Given the description of an element on the screen output the (x, y) to click on. 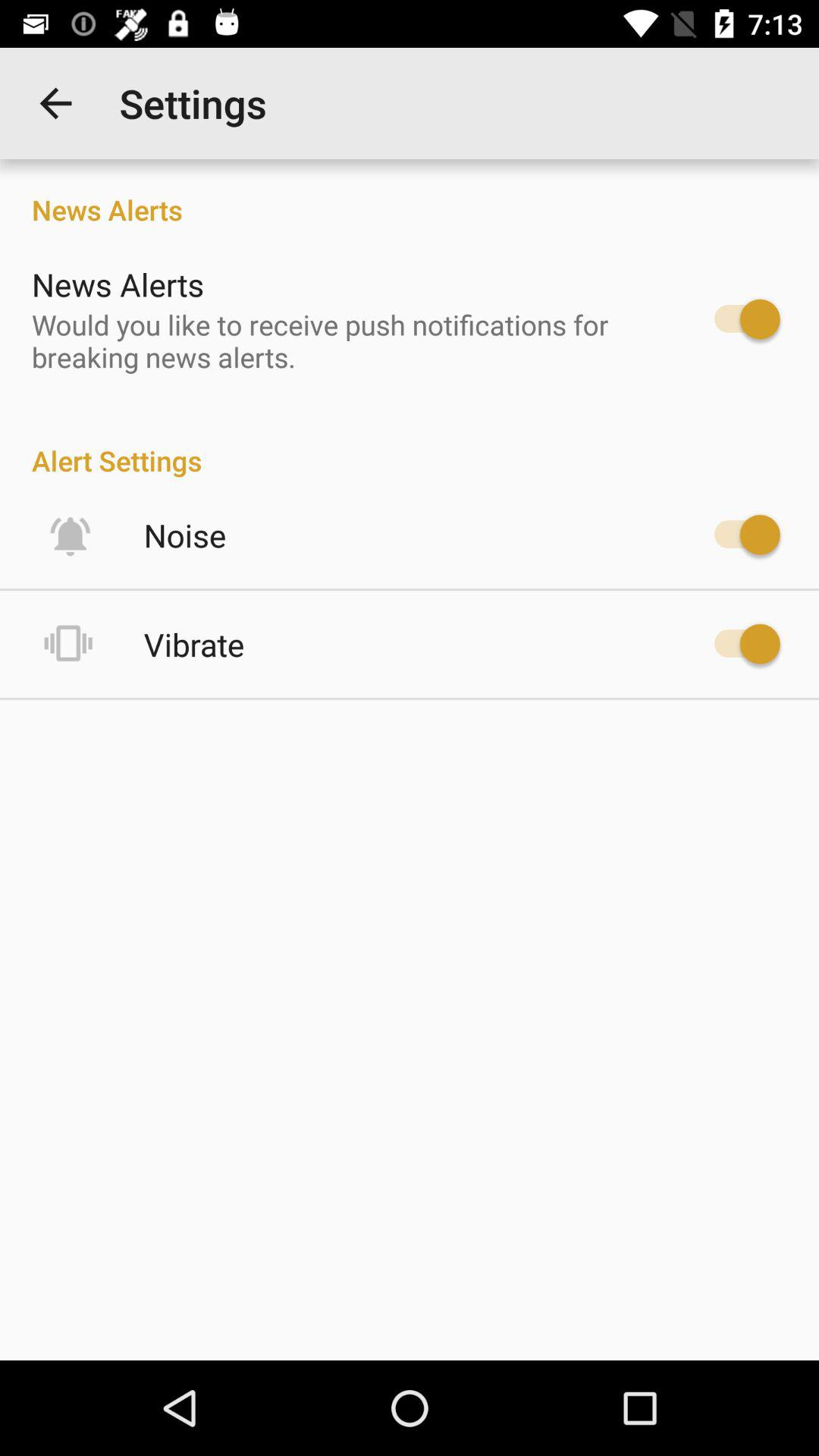
swipe to the would you like (345, 340)
